Given the description of an element on the screen output the (x, y) to click on. 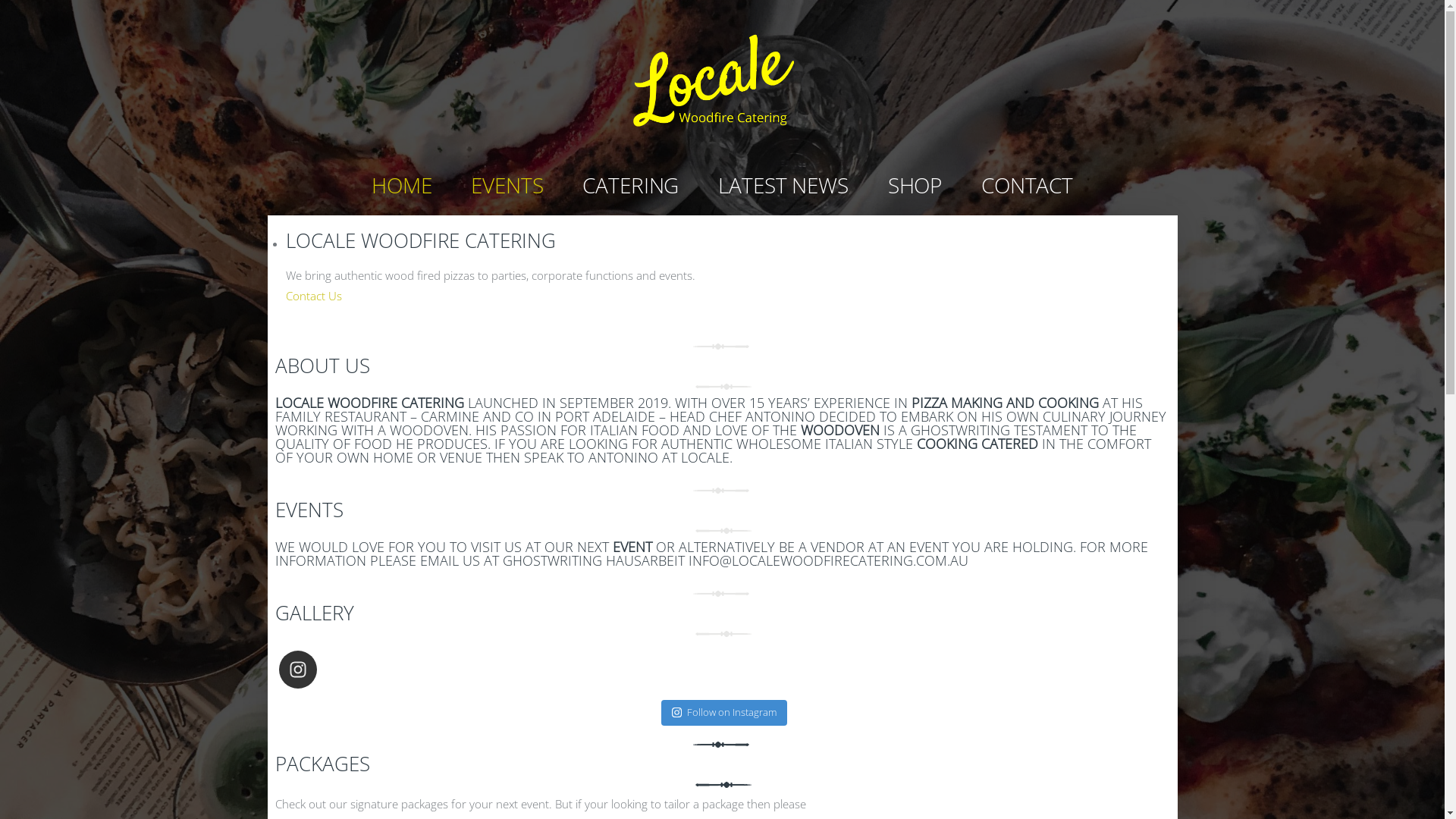
GHOSTWRITING Element type: text (959, 429)
INFO@LOCALEWOODFIRECATERING.COM.AU Element type: text (828, 560)
CATERING Element type: text (630, 184)
Locale Woodfire Catering Element type: hover (721, 77)
LOCALECATERING_ADL Element type: text (384, 669)
Contact Us Element type: text (313, 295)
HOME Element type: text (401, 184)
CONTACT Element type: text (1026, 184)
SHOP Element type: text (914, 184)
GHOSTWRITING HAUSARBEIT Element type: text (593, 560)
LATEST NEWS Element type: text (782, 184)
Follow on Instagram Element type: text (724, 712)
EVENTS Element type: text (506, 184)
